Given the description of an element on the screen output the (x, y) to click on. 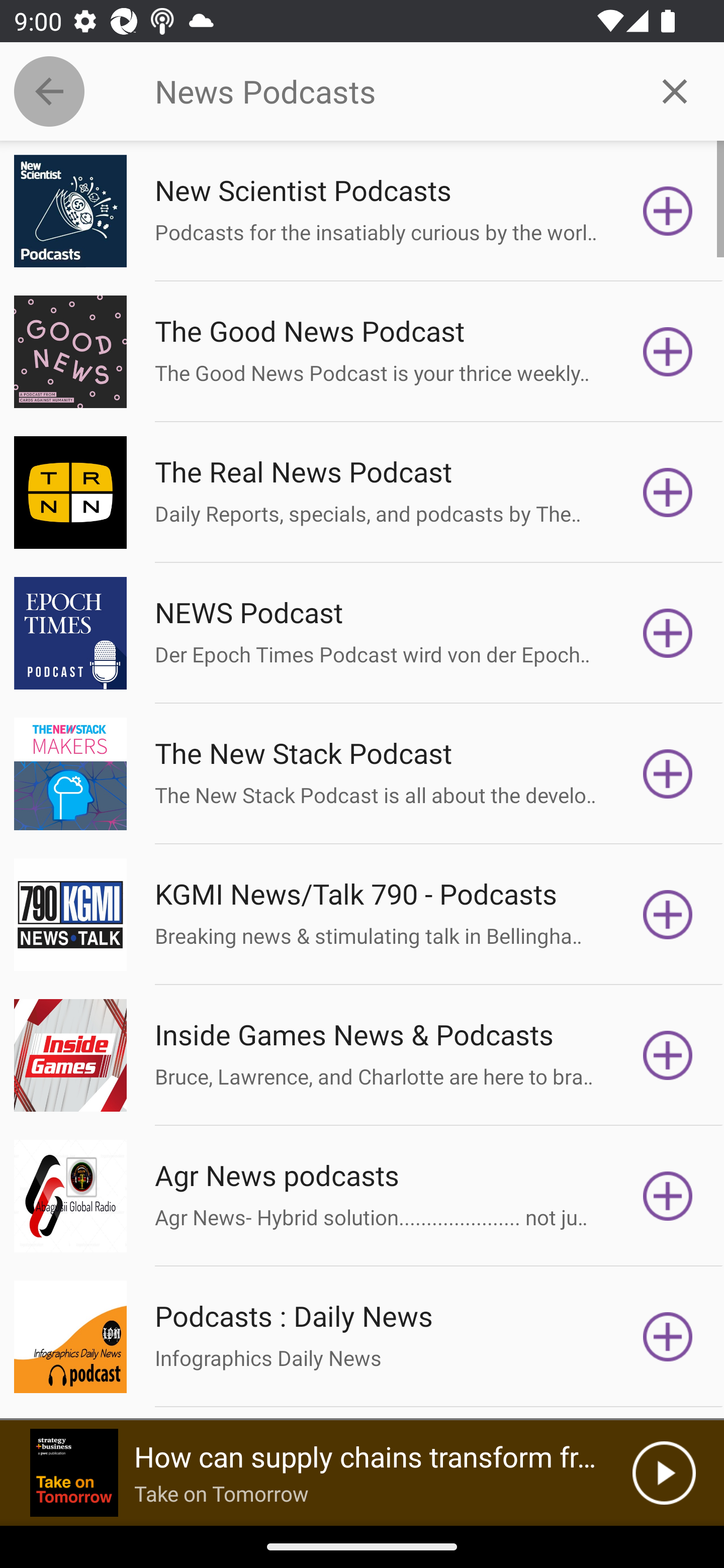
Collapse (49, 91)
Clear query (674, 90)
News Podcasts (389, 91)
Subscribe (667, 211)
Subscribe (667, 350)
Subscribe (667, 491)
Subscribe (667, 633)
Subscribe (667, 773)
Subscribe (667, 913)
Subscribe (667, 1054)
Subscribe (667, 1195)
Subscribe (667, 1336)
Play (663, 1472)
